Given the description of an element on the screen output the (x, y) to click on. 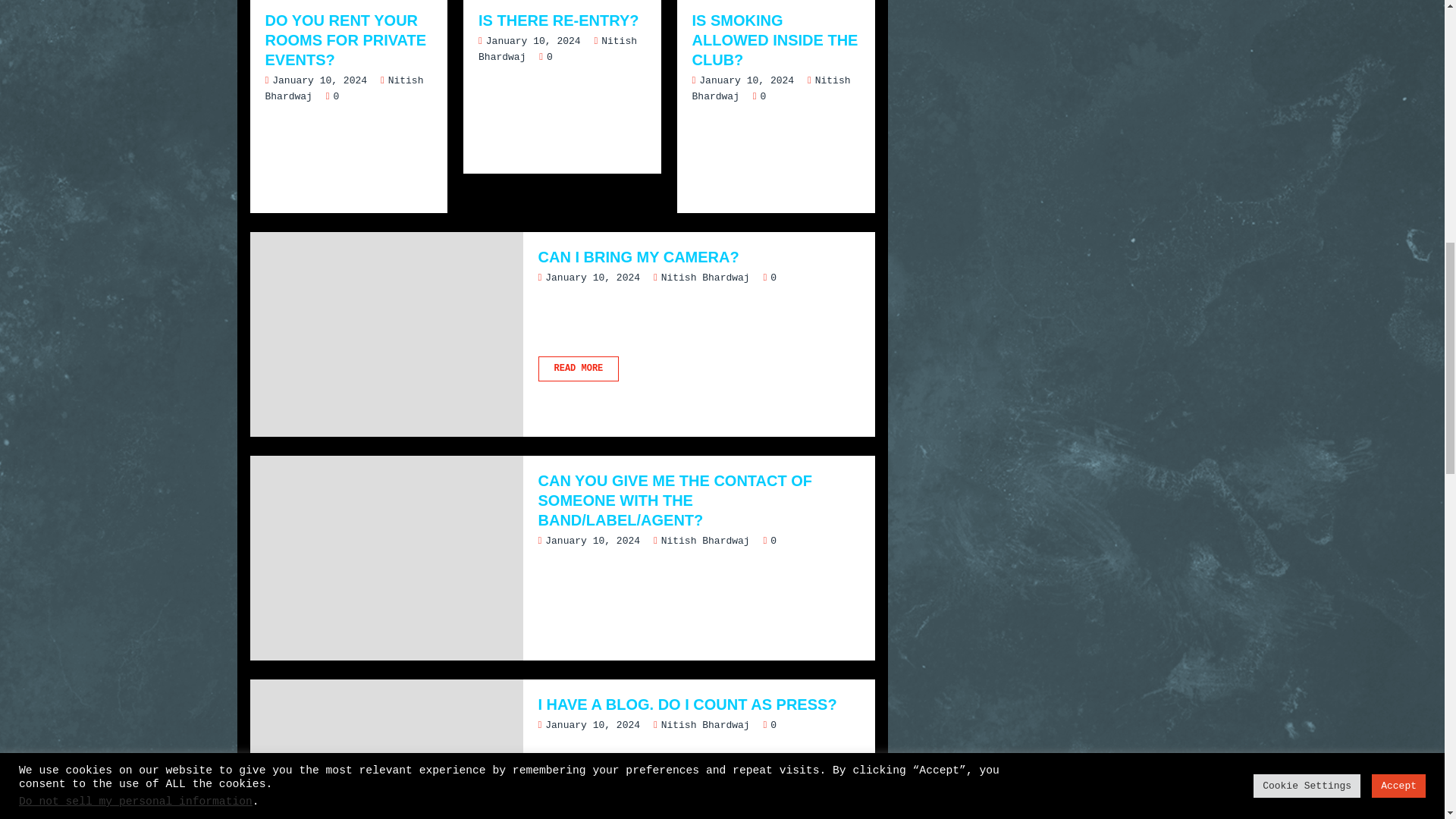
Can I bring my camera? (699, 368)
